Given the description of an element on the screen output the (x, y) to click on. 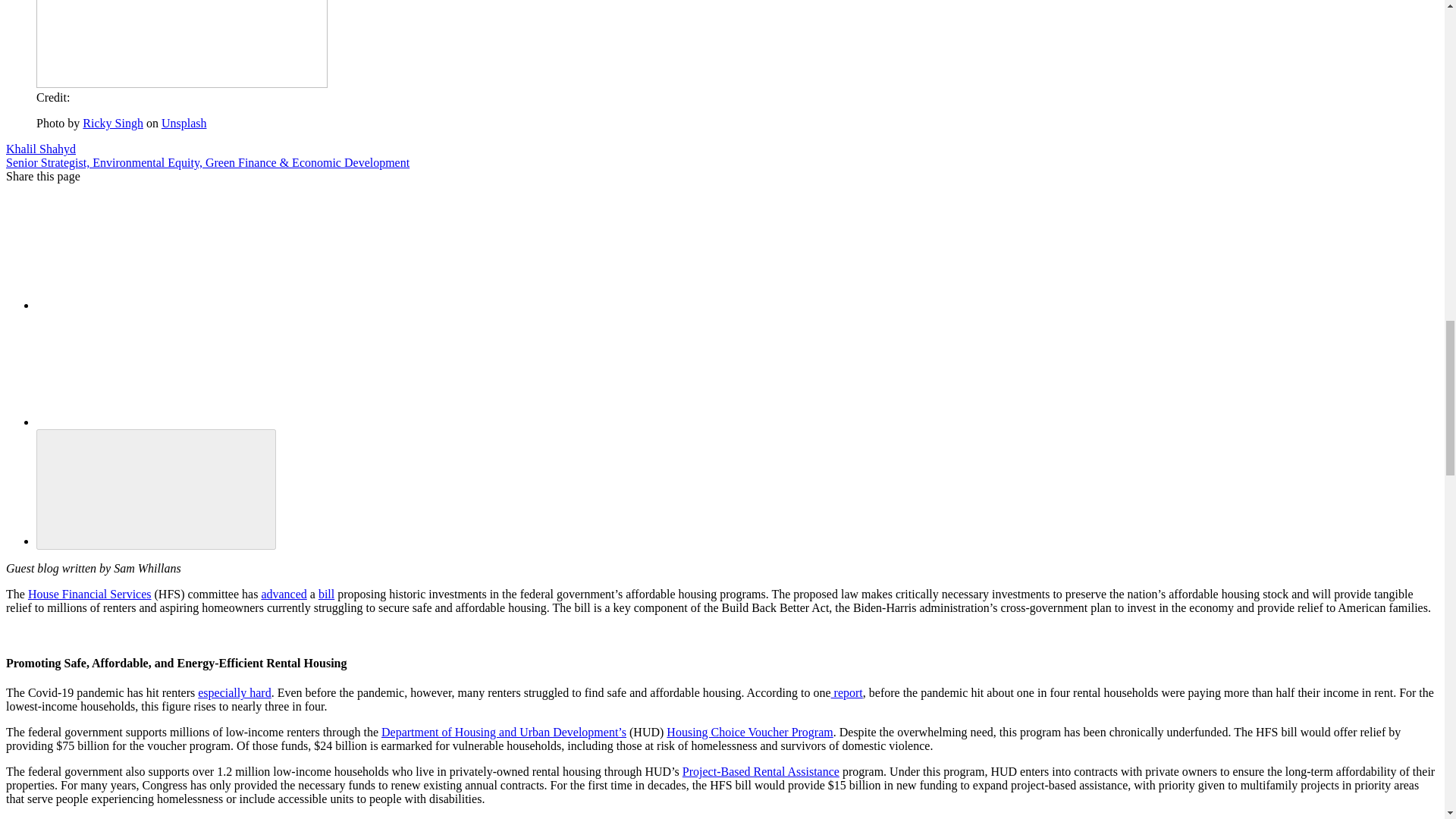
Share this page block (149, 252)
Share this page block (155, 488)
Share this page block (149, 368)
